Given the description of an element on the screen output the (x, y) to click on. 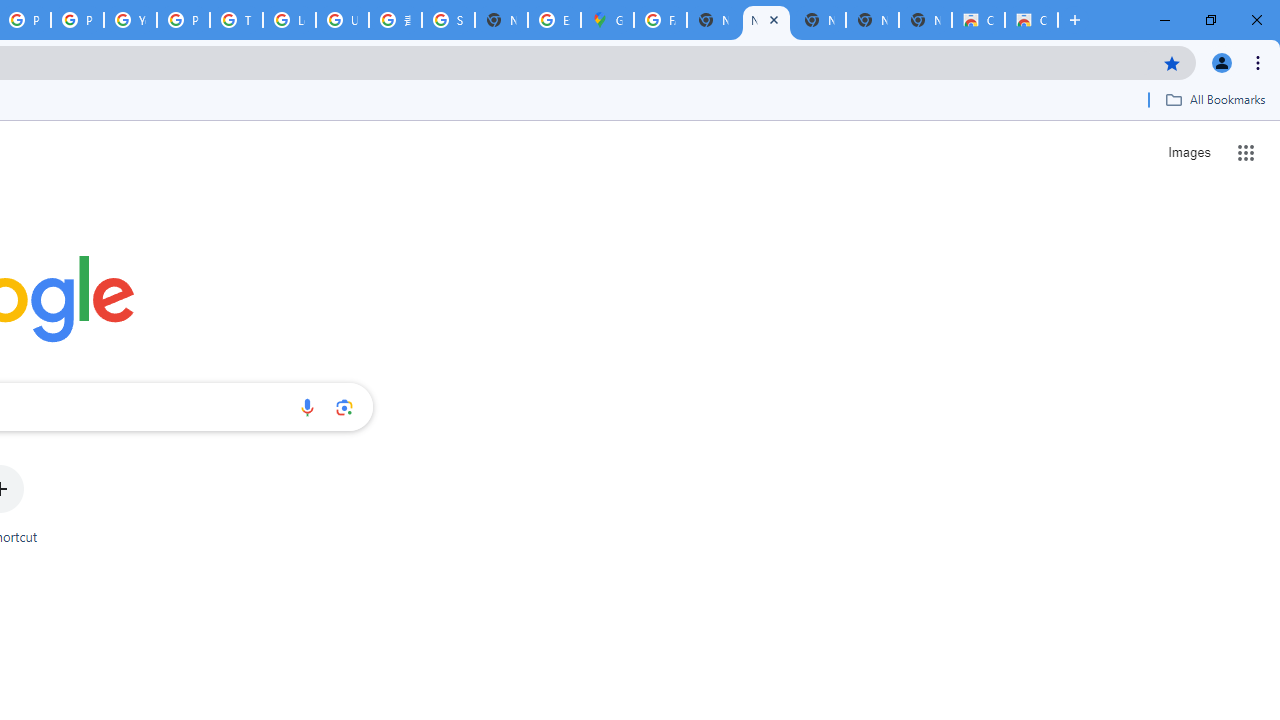
Classic Blue - Chrome Web Store (1031, 20)
